Given the description of an element on the screen output the (x, y) to click on. 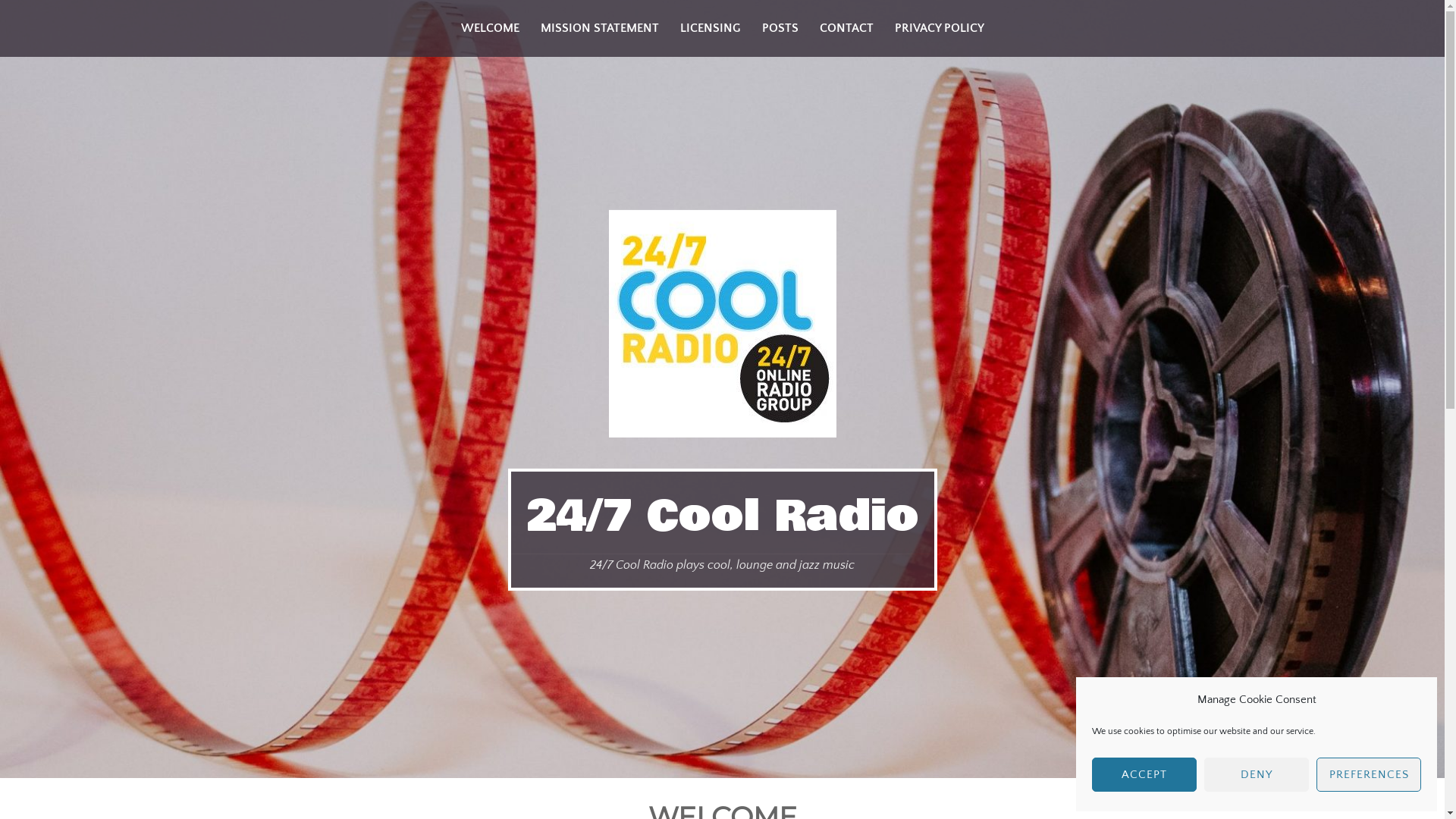
DENY Element type: text (1256, 774)
MISSION STATEMENT Element type: text (598, 28)
24/7 Cool Radio Element type: text (722, 516)
ACCEPT Element type: text (1144, 774)
WELCOME Element type: text (489, 28)
POSTS Element type: text (779, 28)
PREFERENCES Element type: text (1368, 774)
LICENSING Element type: text (709, 28)
PRIVACY POLICY Element type: text (939, 28)
CONTACT Element type: text (845, 28)
